Given the description of an element on the screen output the (x, y) to click on. 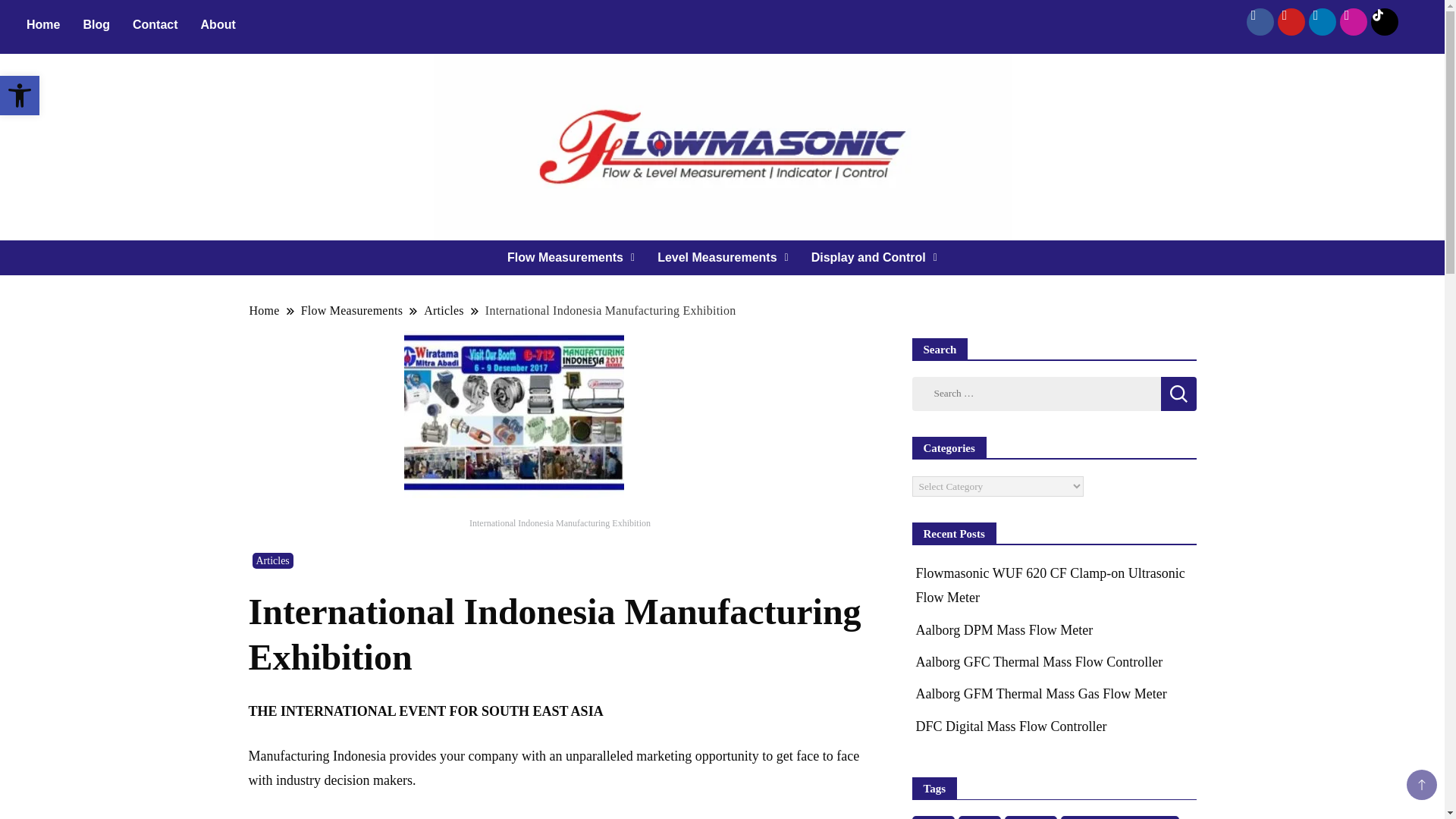
Flow Measurements (571, 257)
About (19, 95)
Level Measurements (218, 24)
Search (722, 257)
Home (1177, 393)
Accessibility Tools (42, 24)
Search (19, 95)
Accessibility Tools (1177, 393)
Blog (19, 95)
